Given the description of an element on the screen output the (x, y) to click on. 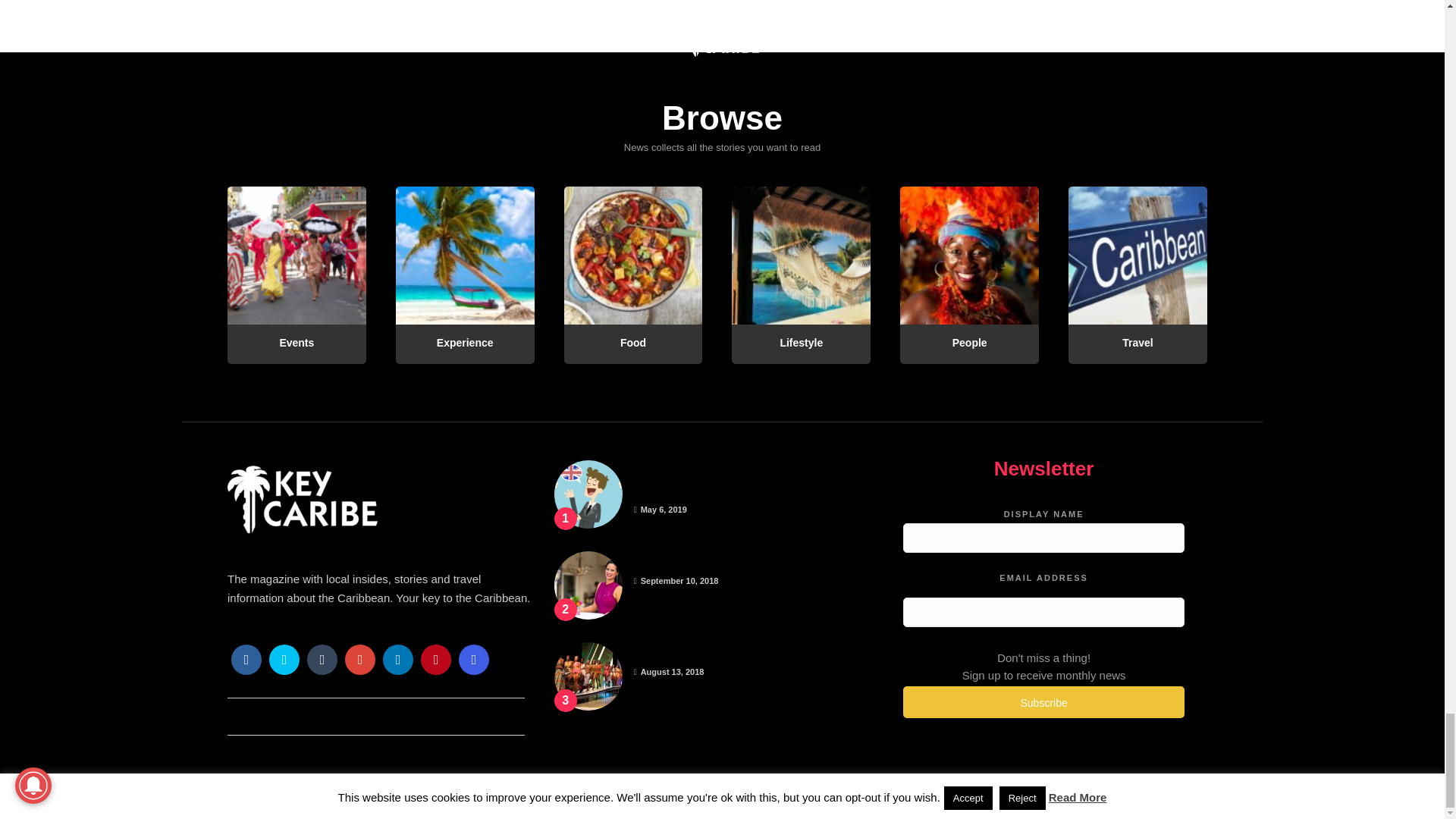
Subscribe (1043, 702)
